Given the description of an element on the screen output the (x, y) to click on. 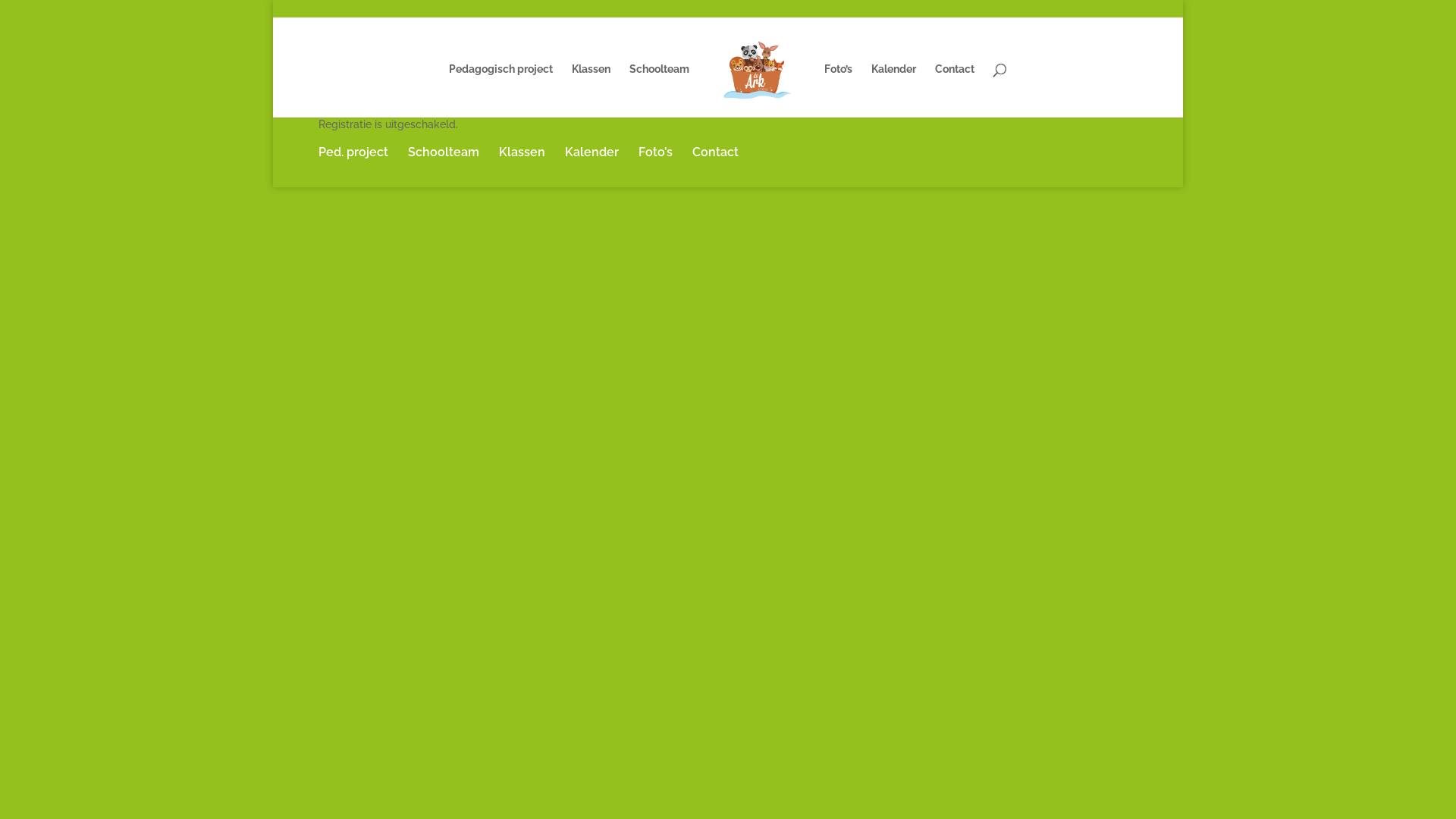
Contact Element type: text (715, 151)
Ped. project Element type: text (353, 151)
Klassen Element type: text (521, 151)
Kalender Element type: text (591, 151)
Schoolteam Element type: text (659, 90)
Schoolteam Element type: text (443, 151)
Klassen Element type: text (590, 90)
Contact Element type: text (954, 90)
Pedagogisch project Element type: text (500, 90)
Kalender Element type: text (893, 90)
